Given the description of an element on the screen output the (x, y) to click on. 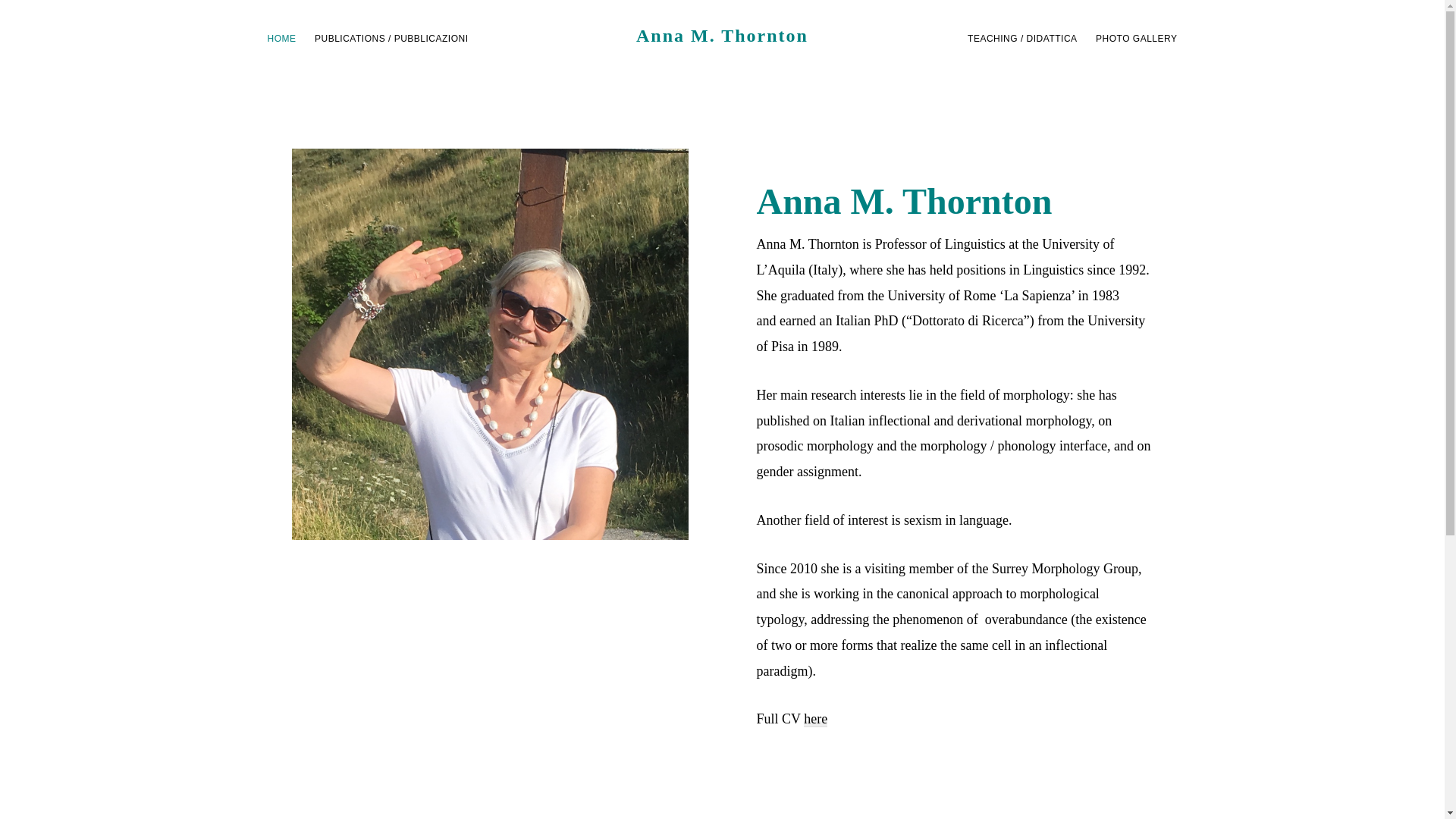
PHOTO GALLERY (1136, 37)
HOME (280, 37)
Anna M. Thornton (722, 35)
here (815, 719)
